Given the description of an element on the screen output the (x, y) to click on. 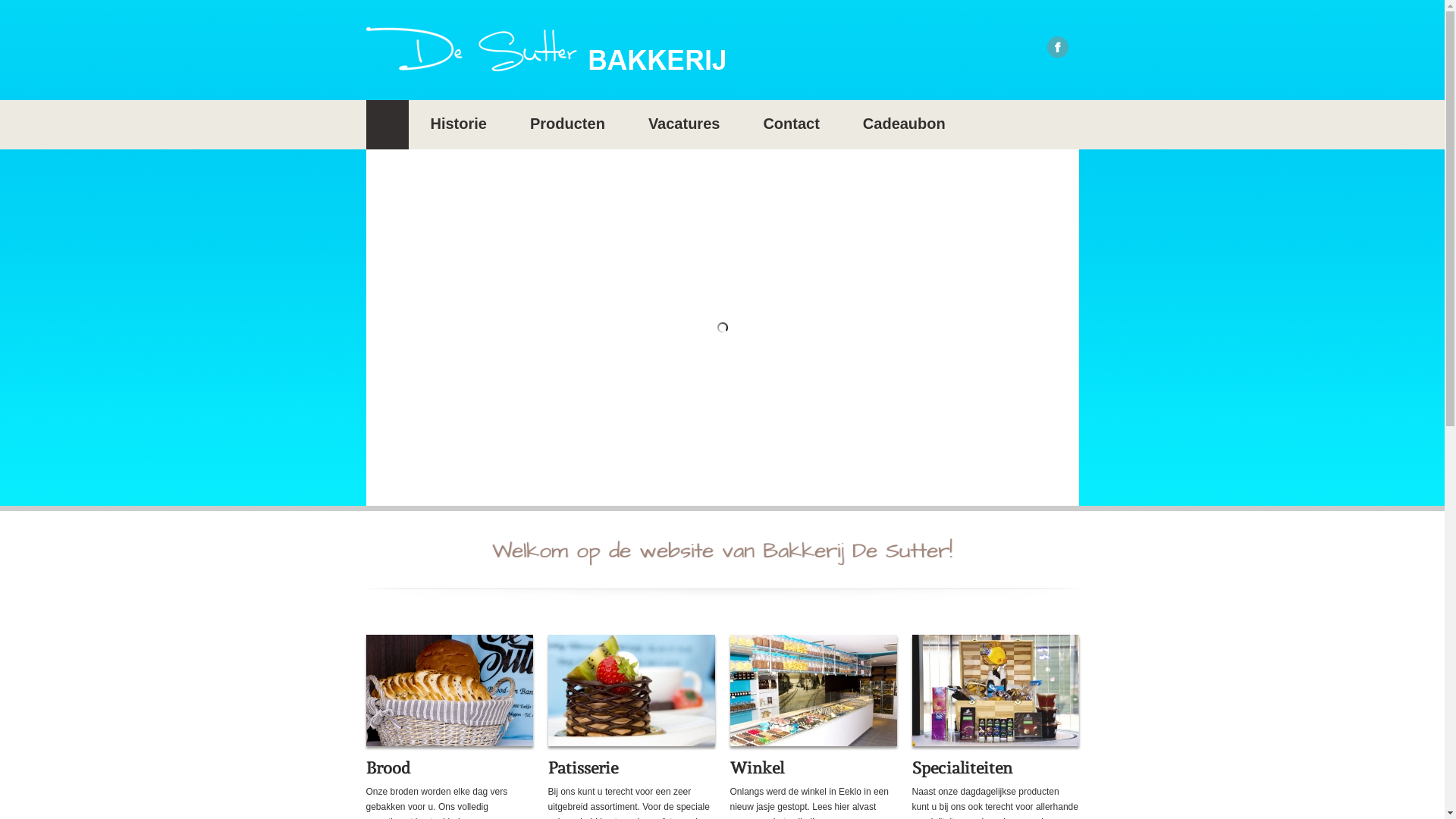
Cadeaubon Element type: text (903, 124)
Vacatures Element type: text (684, 124)
Specialiteiten Element type: text (961, 767)
Brood Element type: text (387, 767)
Historie Element type: text (458, 124)
Patisserie Element type: text (582, 767)
Winkel Element type: text (756, 767)
Contact Element type: text (790, 124)
